Given the description of an element on the screen output the (x, y) to click on. 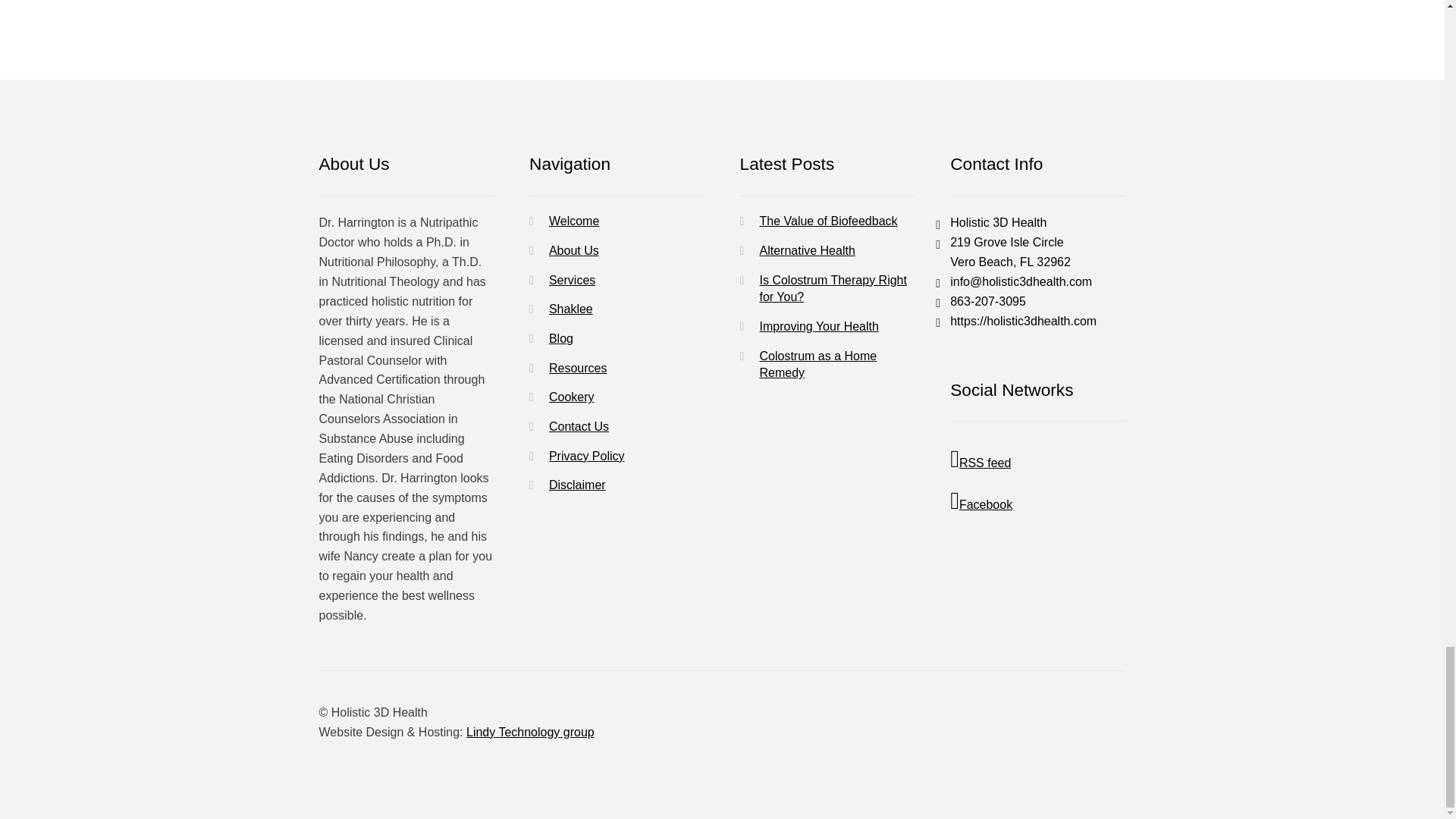
Visit Holistic 3D Health on RSS feed (1037, 459)
